Given the description of an element on the screen output the (x, y) to click on. 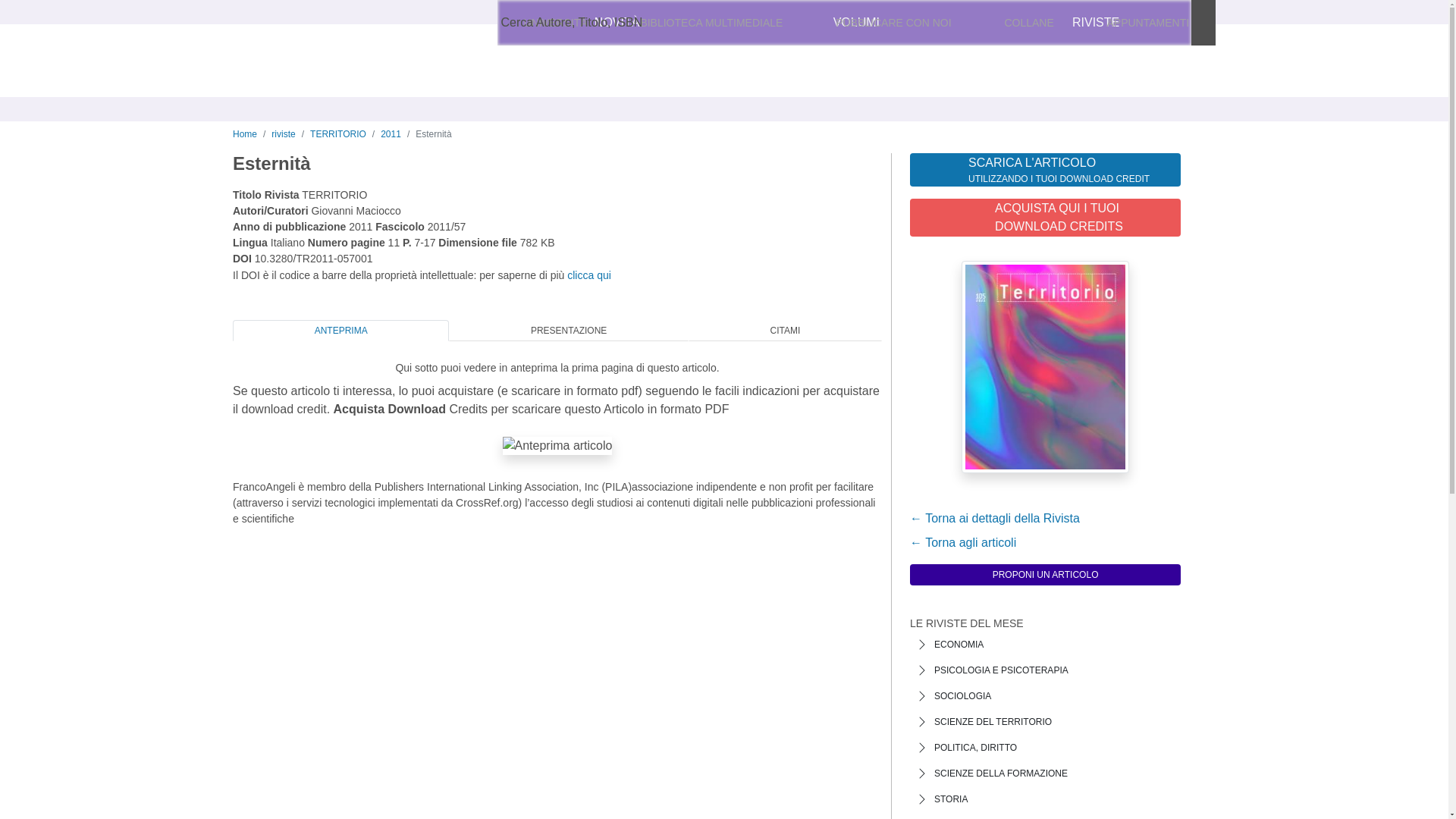
Accedi (997, 22)
Carrello (1170, 22)
COLLANE (1029, 22)
BIBLIOTECA MULTIMEDIALE (711, 22)
aiuto (619, 23)
contatti (577, 23)
ENG (919, 22)
PUBBLICARE CON NOI (892, 22)
APPUNTAMENTI (1147, 22)
Preferiti (1082, 22)
